Given the description of an element on the screen output the (x, y) to click on. 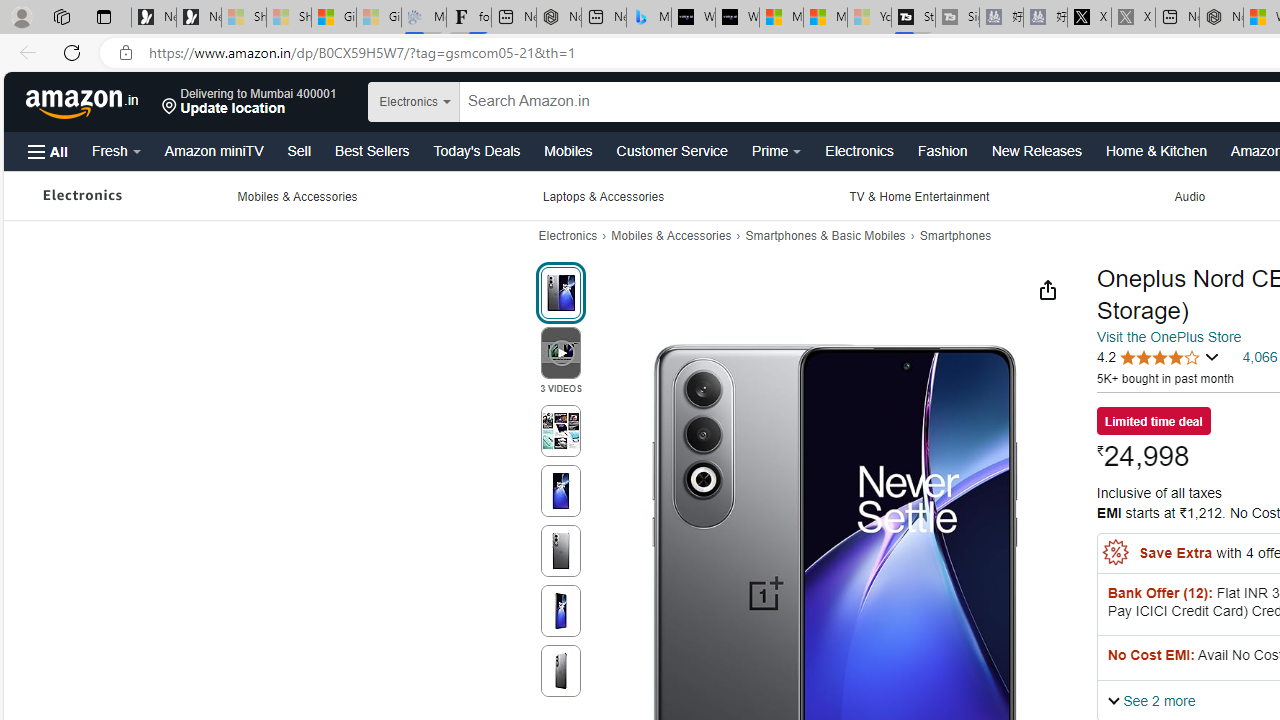
Prime (776, 150)
Customer Service (671, 150)
Smartphones (955, 235)
Microsoft Start Sports (781, 17)
Visit the OnePlus Store (1168, 336)
Mobiles & Accessories (671, 235)
Electronics (81, 196)
Sell (298, 150)
Skip to main content (83, 100)
